Given the description of an element on the screen output the (x, y) to click on. 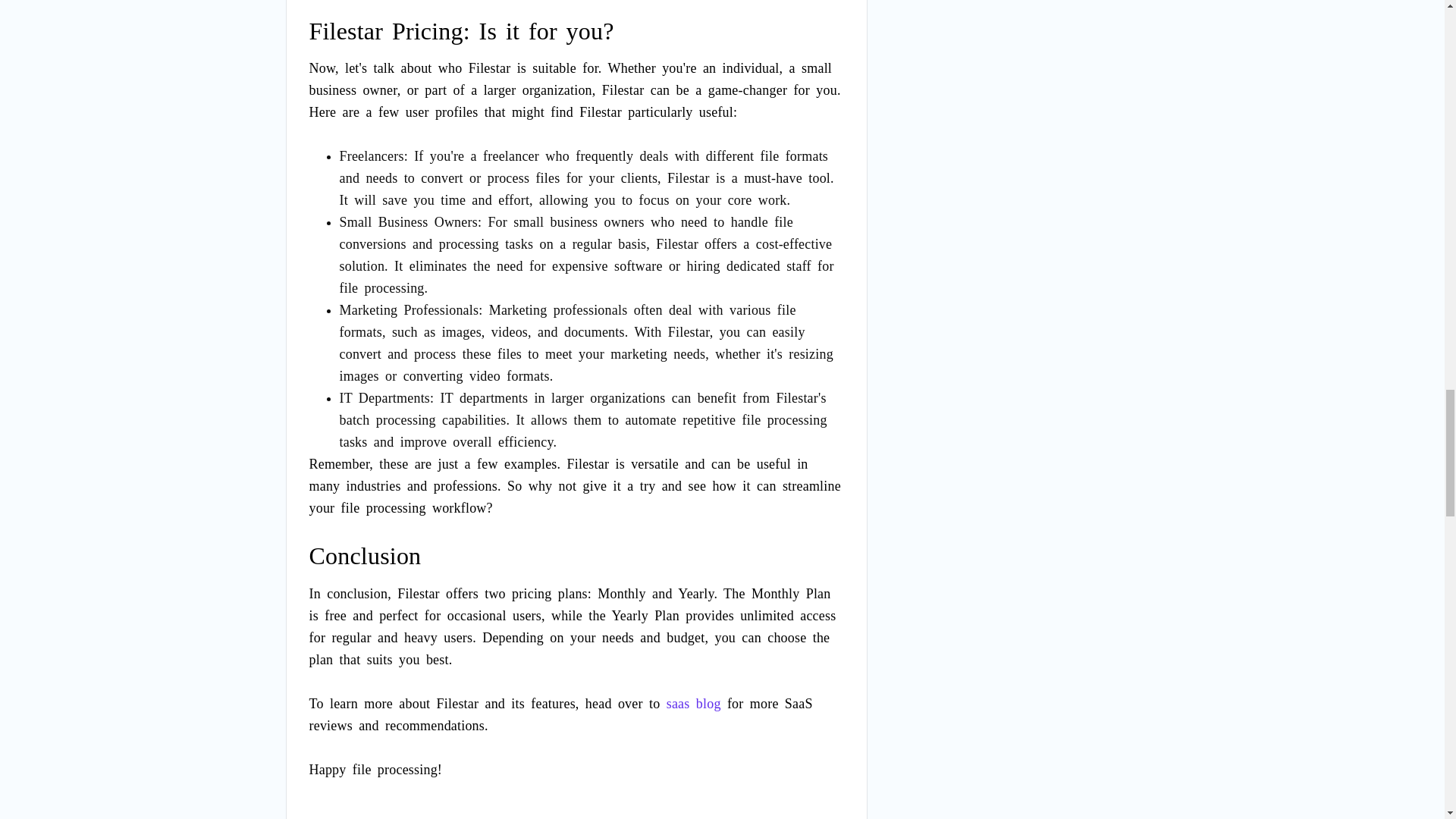
saas blog (693, 703)
